Given the description of an element on the screen output the (x, y) to click on. 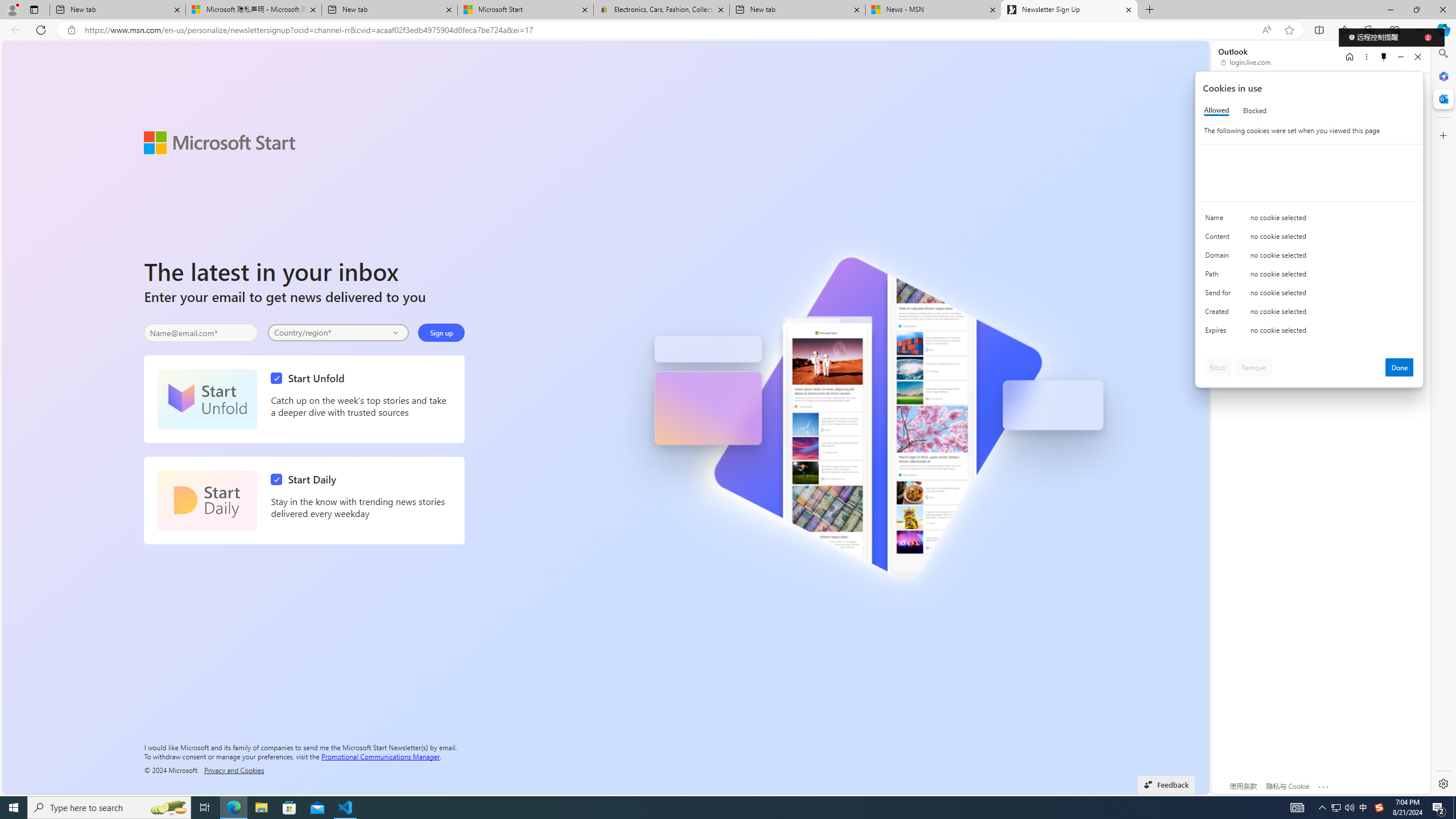
Enter your email (200, 332)
Start Unfold (310, 378)
Class: c0153 c0157 (1309, 332)
Start Unfold (207, 399)
Name (1219, 220)
